Given the description of an element on the screen output the (x, y) to click on. 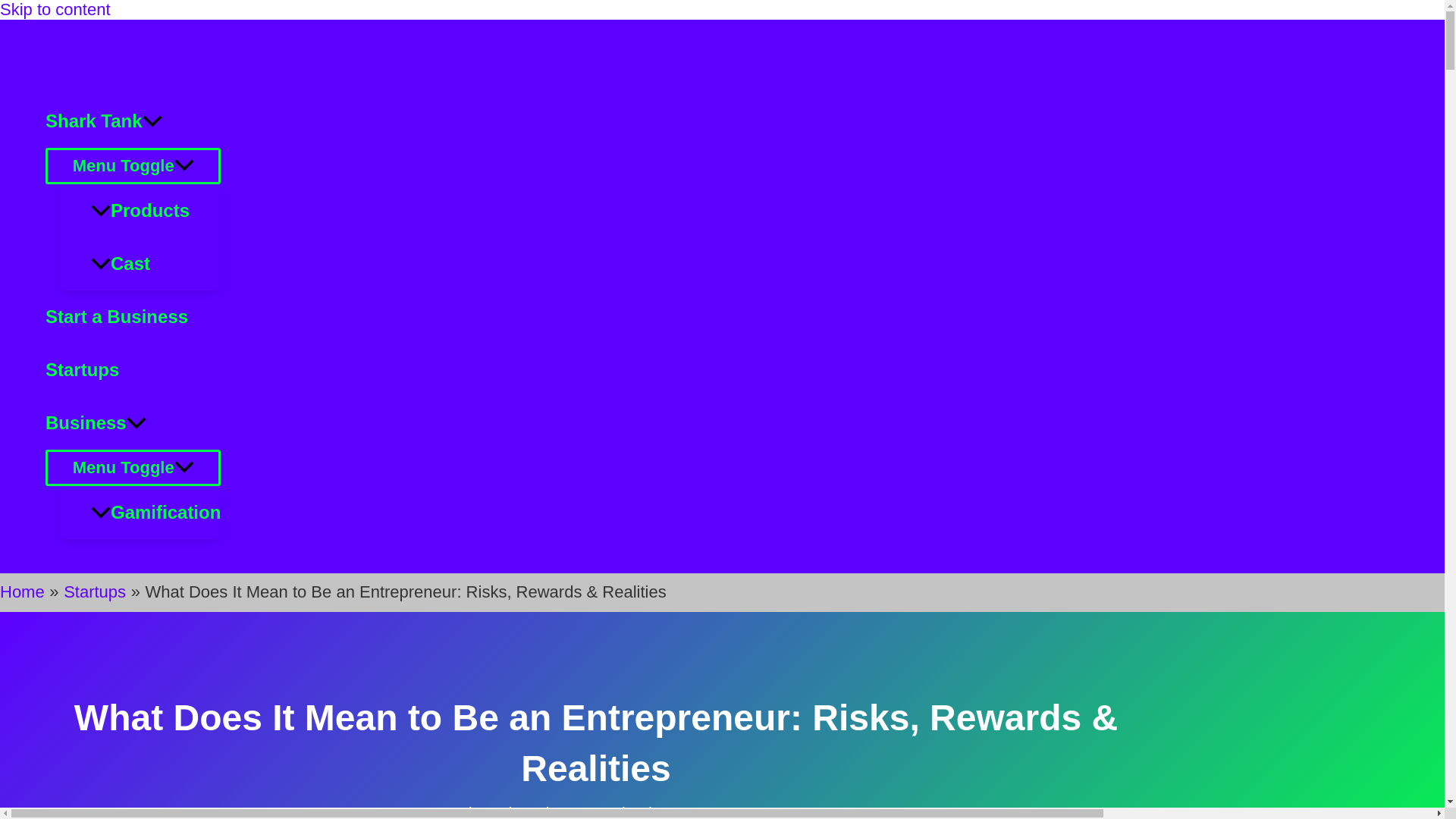
Products (155, 210)
Menu Toggle (133, 467)
Shark Tank (133, 121)
Startups (133, 369)
Skip to content (55, 9)
Cast (155, 263)
Home (22, 591)
Start a Business (133, 316)
Gamification (155, 512)
Skip to content (55, 9)
View all posts by John Prince (497, 811)
Search (24, 564)
Menu Toggle (133, 166)
Business (133, 422)
John Prince (497, 811)
